Given the description of an element on the screen output the (x, y) to click on. 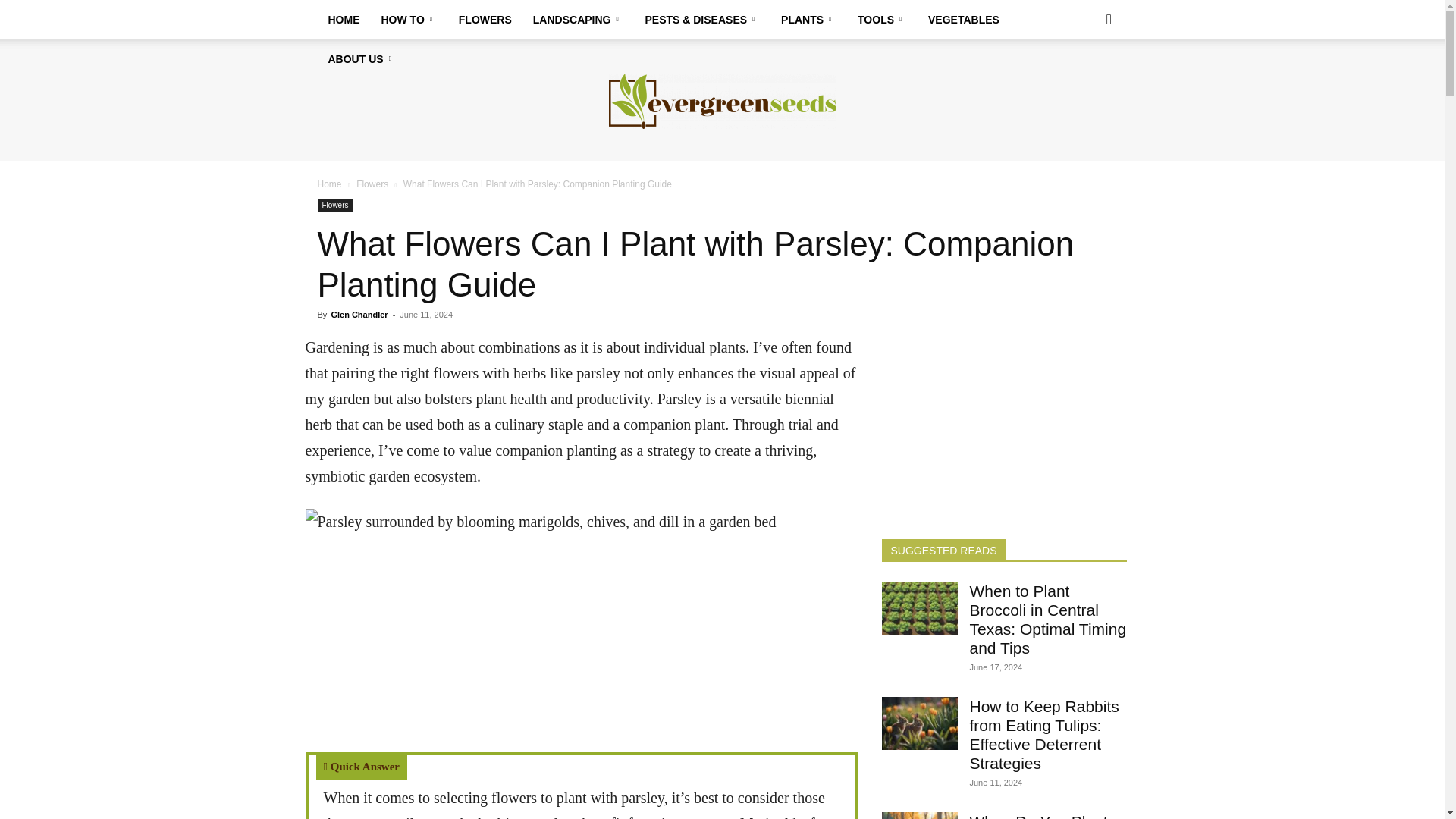
View all posts in Flowers (372, 184)
